Given the description of an element on the screen output the (x, y) to click on. 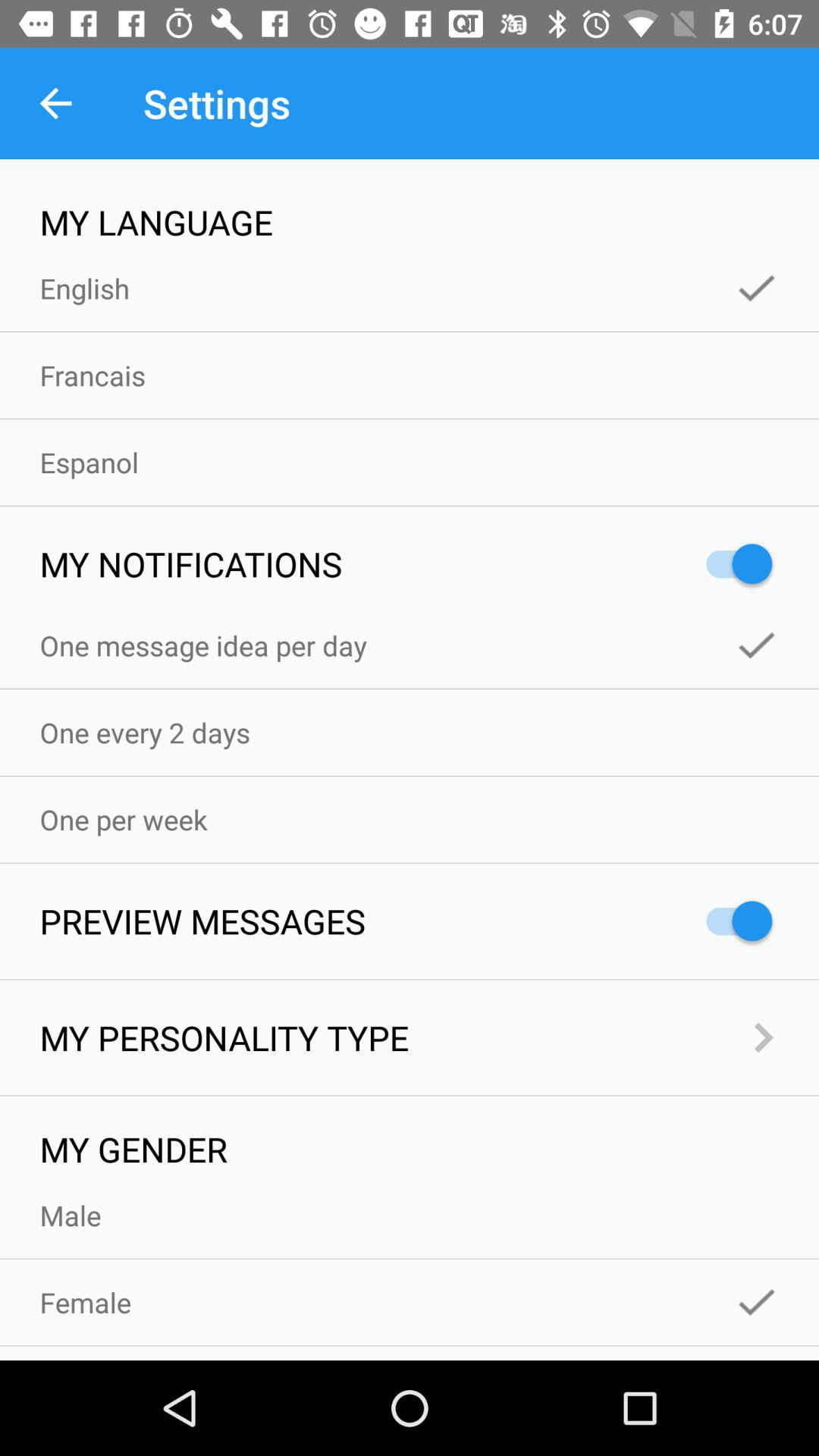
turn off item next to the preview messages (731, 921)
